Given the description of an element on the screen output the (x, y) to click on. 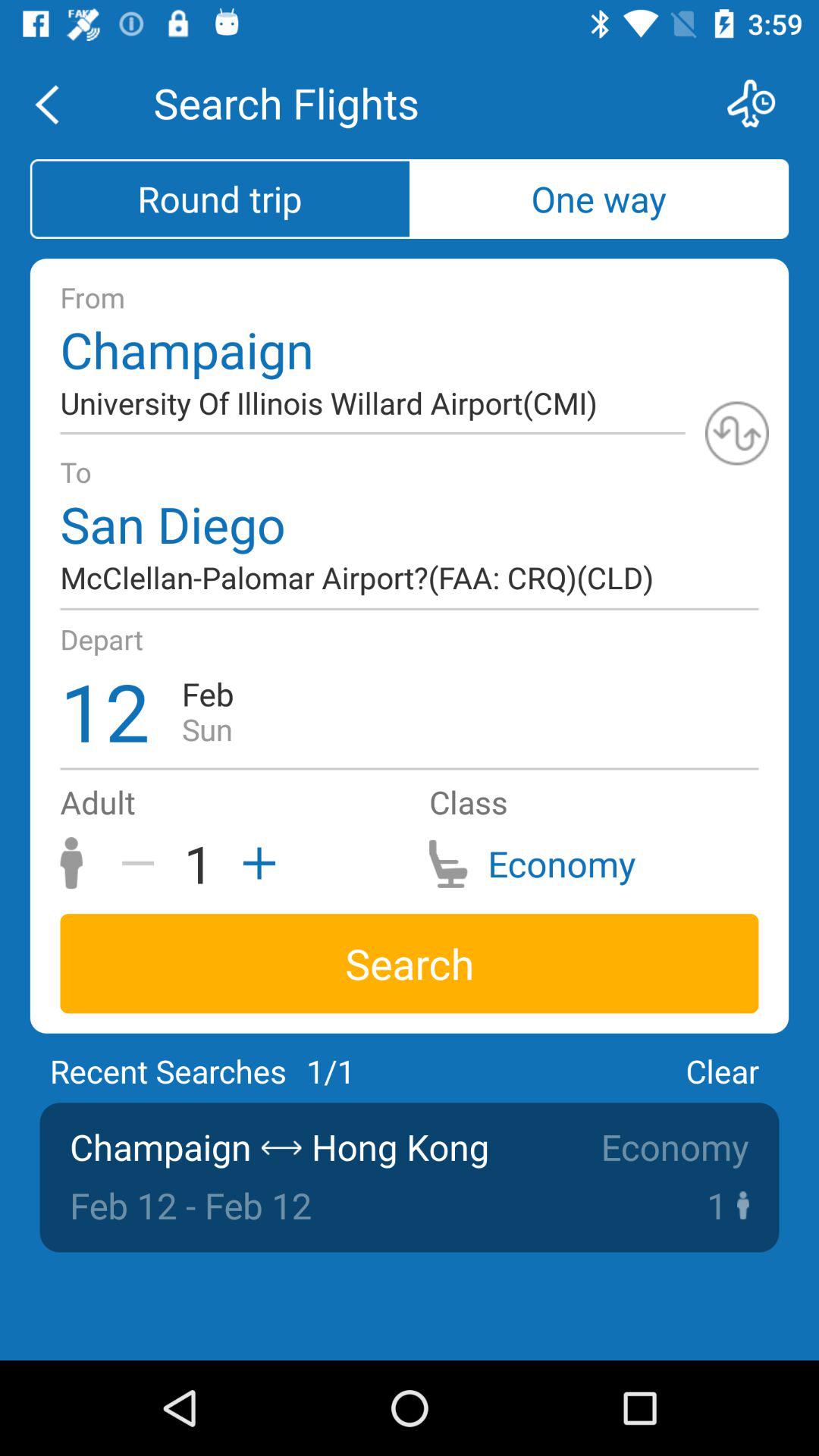
roundtrip info (736, 433)
